Given the description of an element on the screen output the (x, y) to click on. 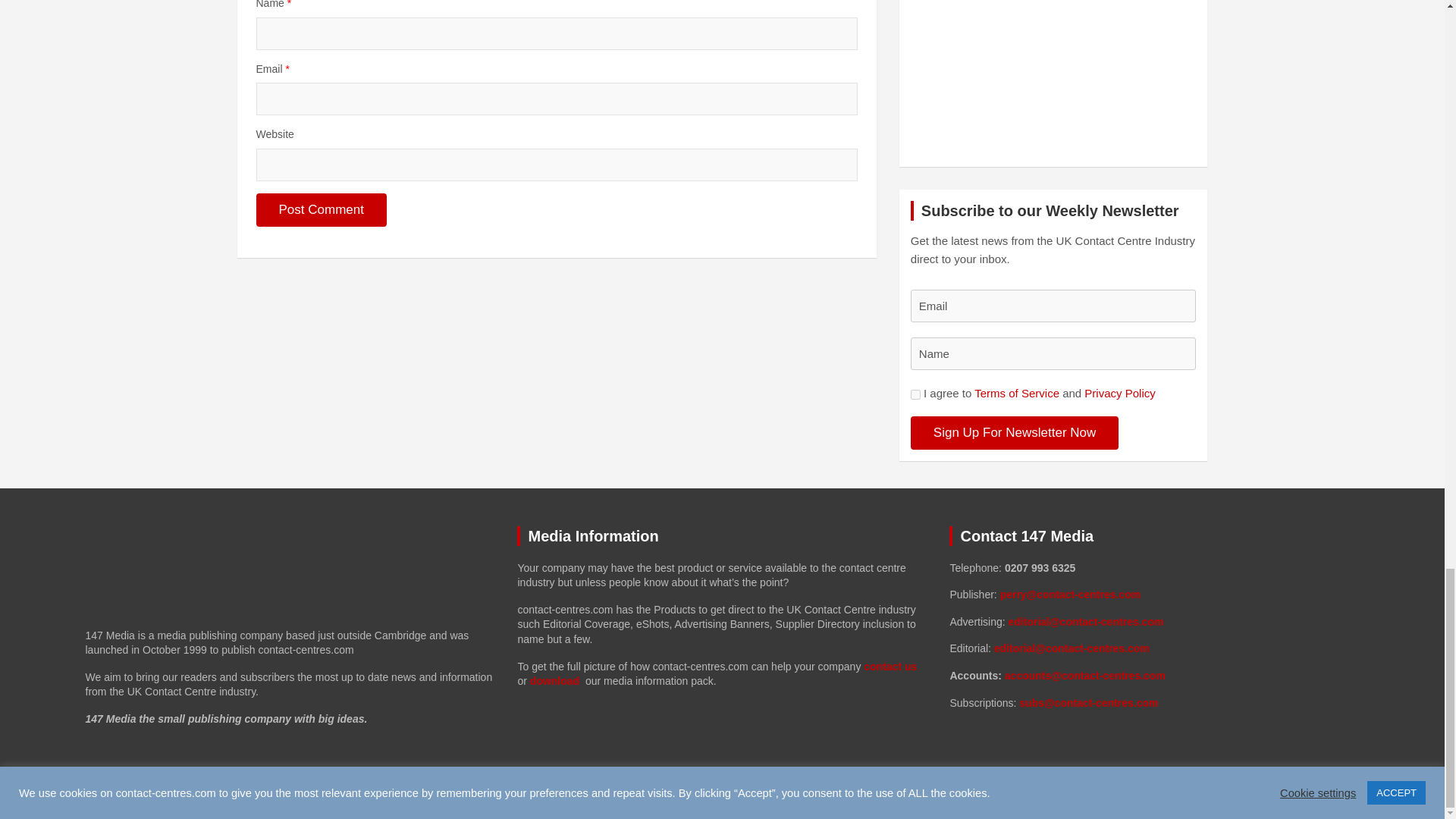
1 (915, 394)
contact-centres.com (228, 791)
Name (1053, 353)
Sign Up For Newsletter Now (1014, 432)
Shift-click to edit this widget. (1153, 636)
Email (1053, 305)
Post Comment (321, 209)
